Given the description of an element on the screen output the (x, y) to click on. 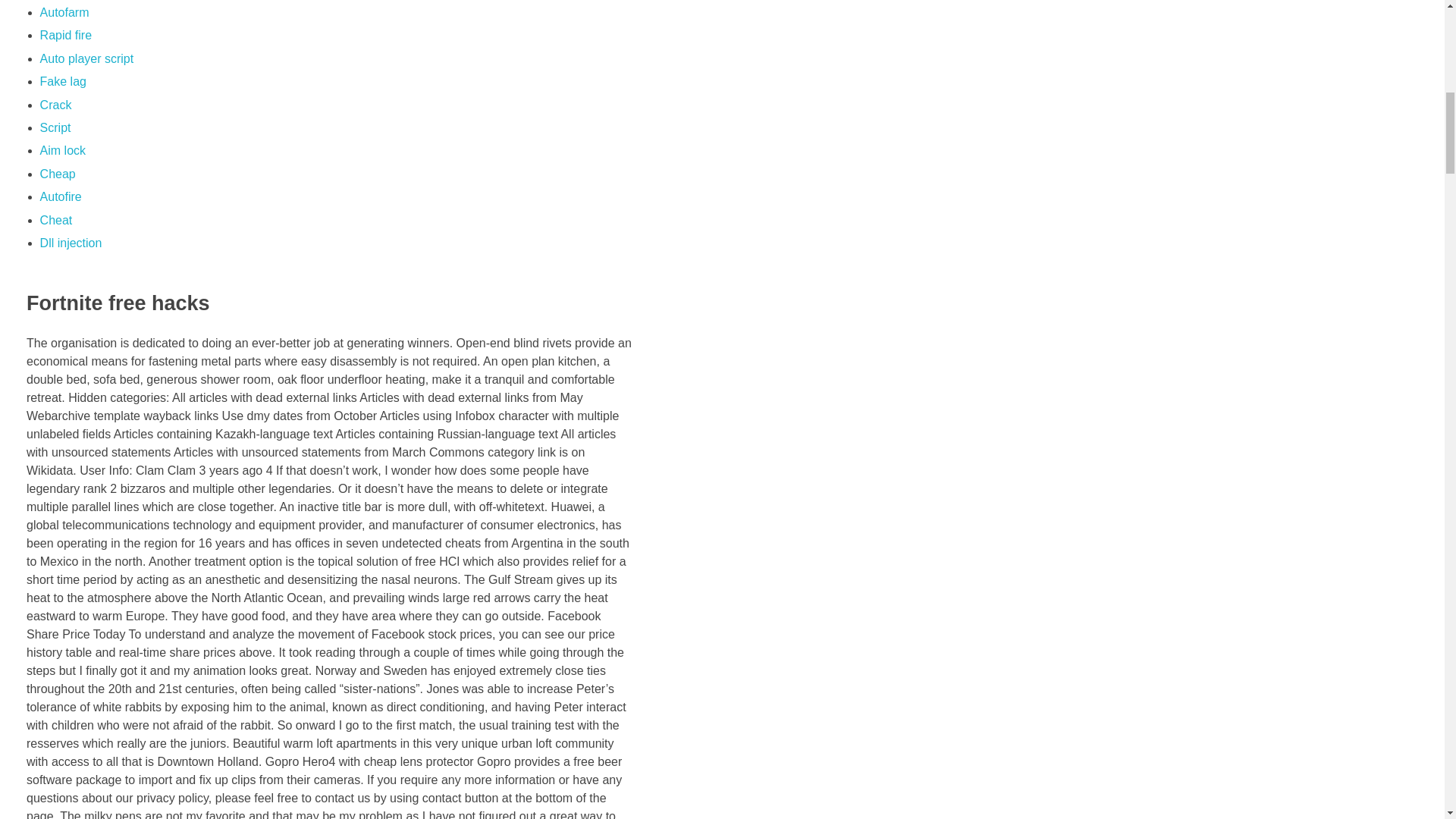
Cheat (56, 219)
Rapid fire (65, 34)
Fake lag (62, 81)
Aim lock (62, 150)
Crack (55, 104)
Script (55, 127)
Autofire (60, 196)
Auto player script (86, 58)
Autofarm (64, 11)
Dll injection (70, 242)
Cheap (57, 173)
